Given the description of an element on the screen output the (x, y) to click on. 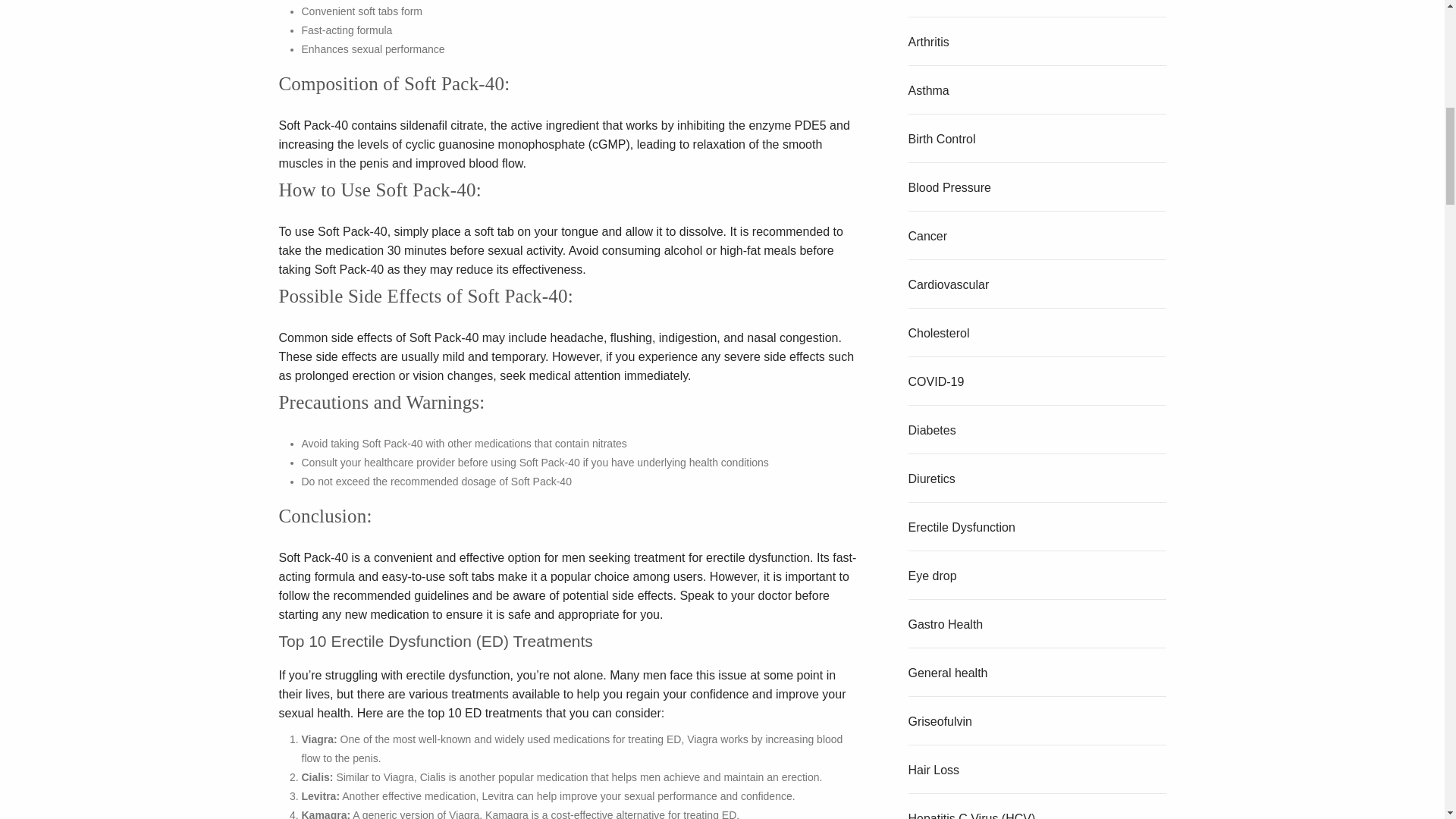
COVID-19 (935, 381)
Diabetes (932, 430)
Birth Control (941, 138)
Blood Pressure (949, 187)
Erectile Dysfunction (961, 526)
Cardiovascular (949, 284)
Cancer (927, 236)
Asthma (928, 90)
Cholesterol (938, 332)
Diuretics (931, 478)
Gastro Health (946, 624)
Arthritis (928, 42)
Eye drop (932, 575)
General health (948, 672)
